Given the description of an element on the screen output the (x, y) to click on. 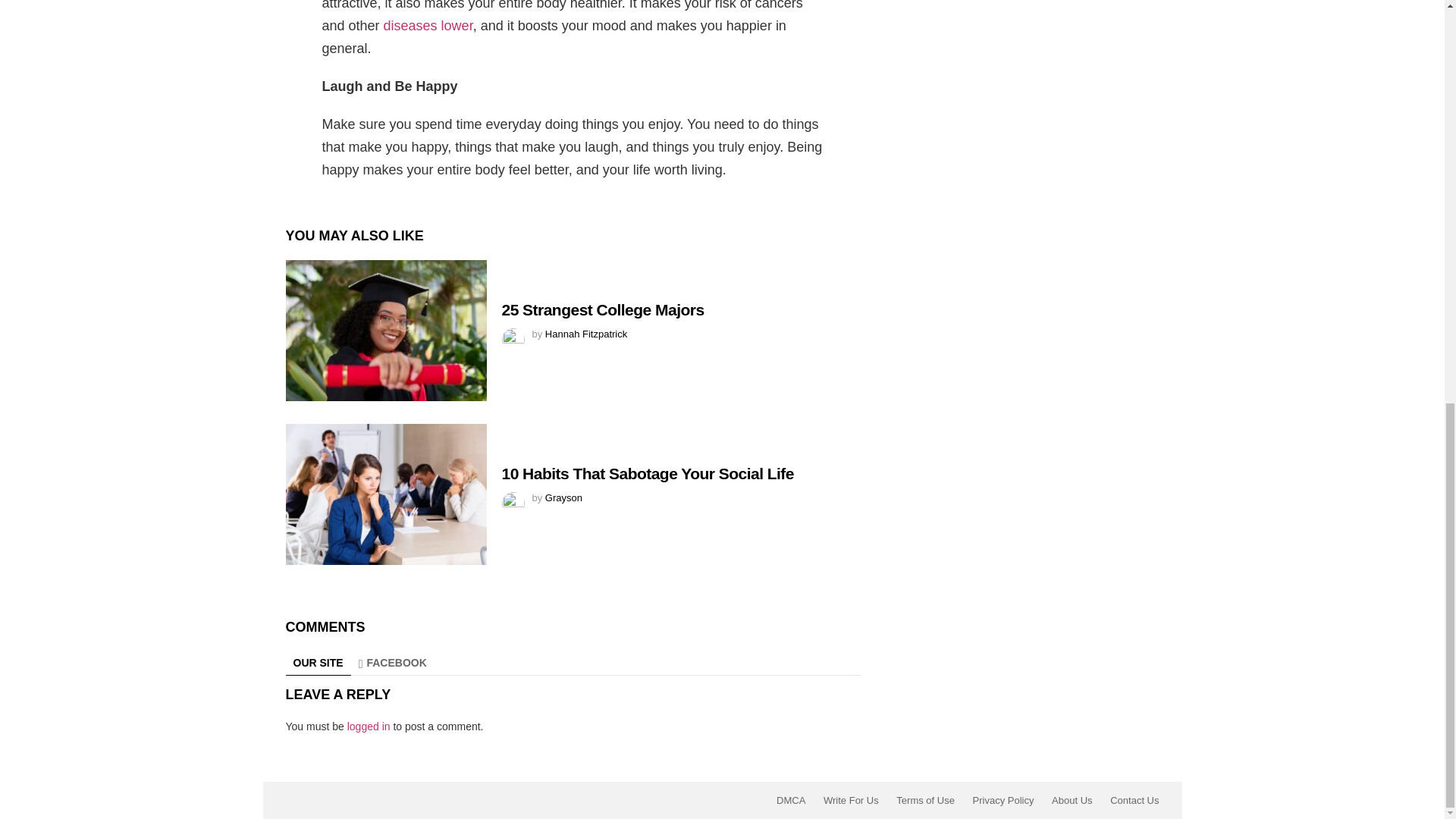
diseases lower (428, 25)
Terms of Use (925, 800)
Posts by Hannah Fitzpatrick (585, 333)
10 Habits That Sabotage Your Social Life (385, 494)
About Us (1071, 800)
FACEBOOK (391, 662)
logged in (368, 726)
Grayson (563, 497)
Contact Us (1134, 800)
Hannah Fitzpatrick (585, 333)
DMCA (790, 800)
OUR SITE (317, 662)
25 Strangest College Majors (385, 330)
Posts by Grayson (563, 497)
Write For Us (850, 800)
